Given the description of an element on the screen output the (x, y) to click on. 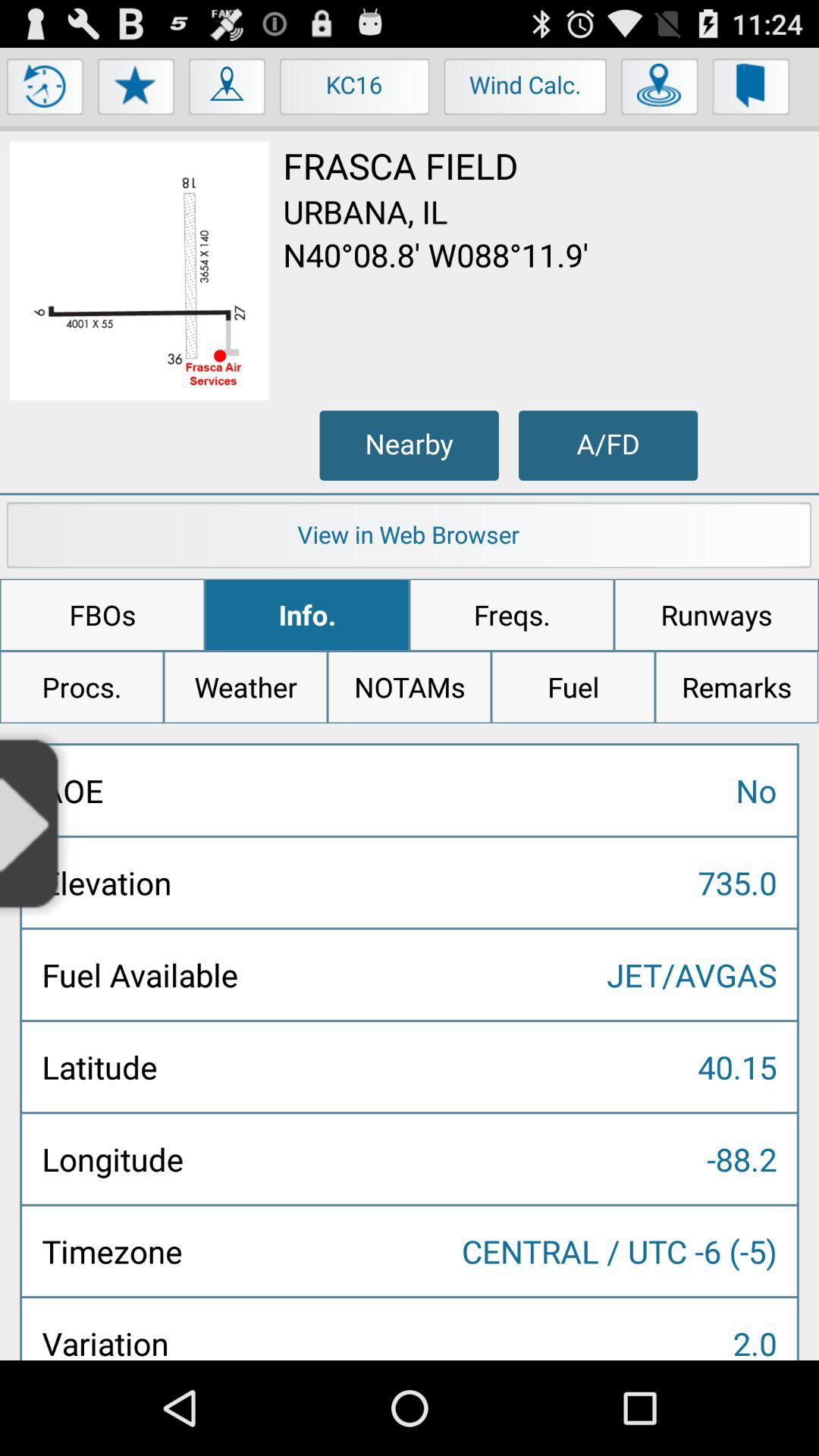
select the icon next to the kc16 (227, 90)
